Given the description of an element on the screen output the (x, y) to click on. 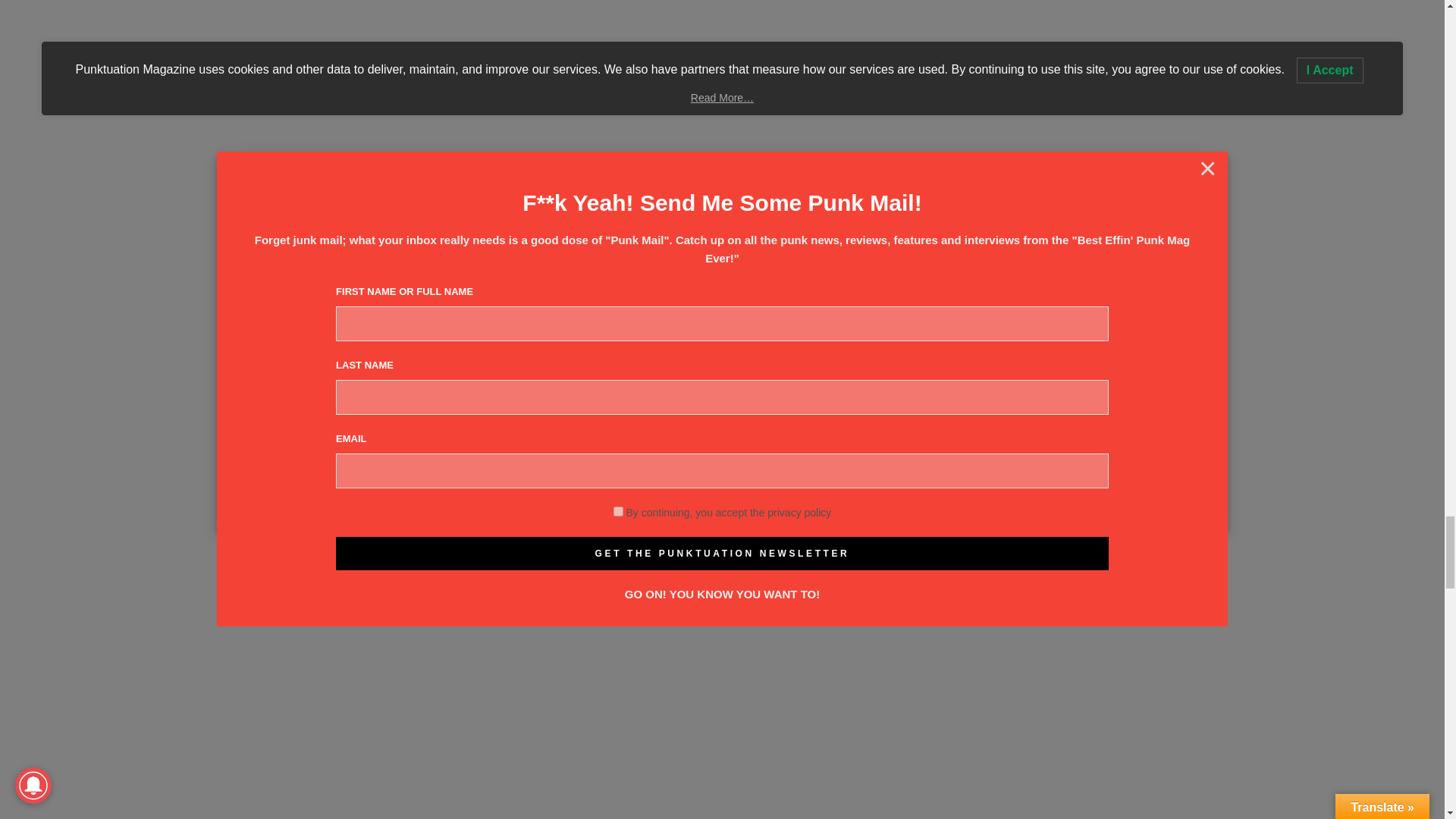
The Guardian in a 2012 interview (574, 472)
